Given the description of an element on the screen output the (x, y) to click on. 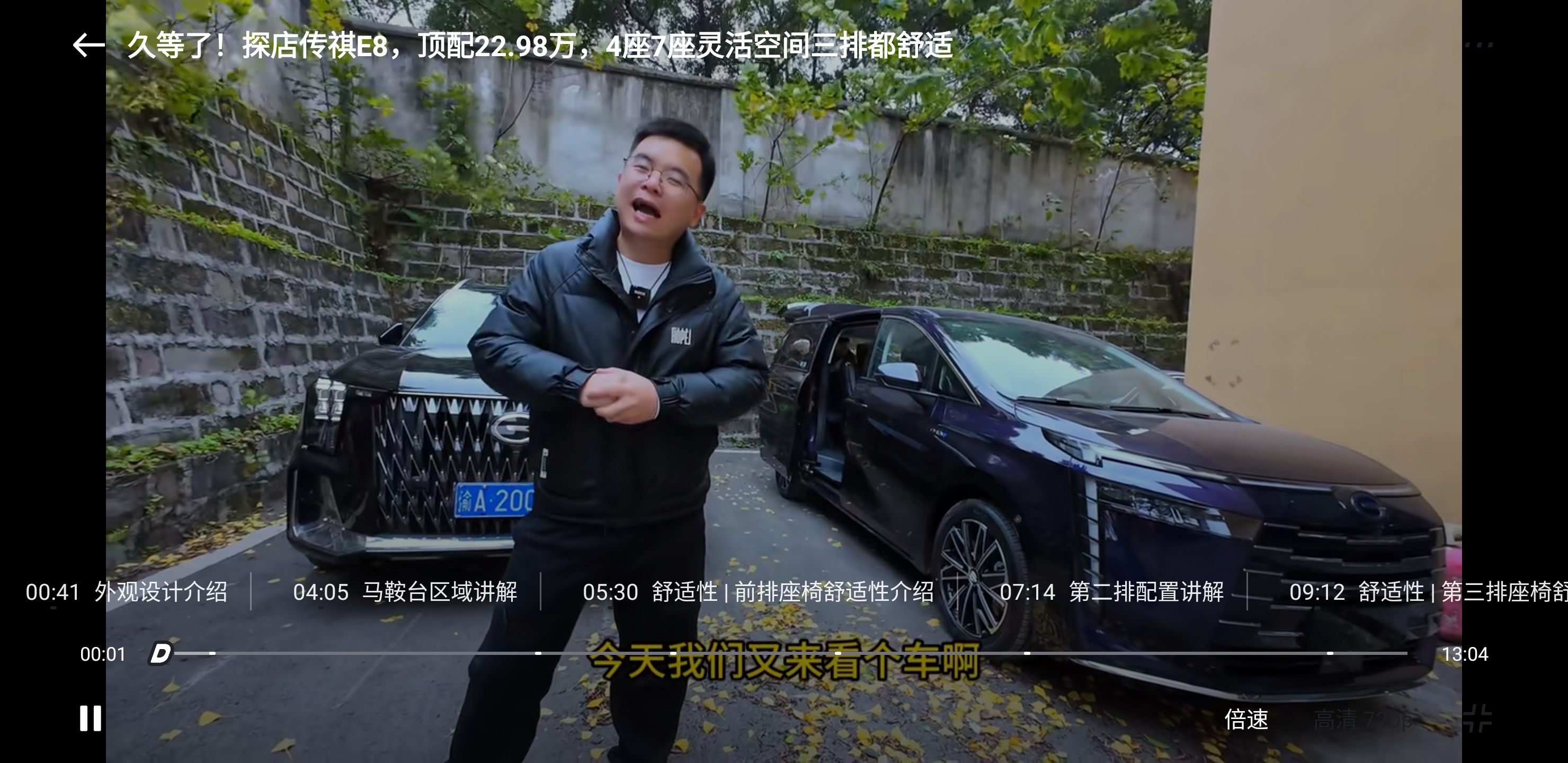
 (89, 44)
 (1478, 44)
00:41 外观设计介绍 (125, 591)
04:05 马鞍台区域讲解 (404, 591)
05:30 舒适性 | 前排座椅舒适性介绍 (757, 591)
07:14 第二排配置讲解 (1110, 591)
09:12 舒适性 | 第三排座椅舒适性介绍 (1415, 591)
 (90, 718)
 (1476, 718)
倍速 (1246, 718)
高清 720p (1363, 718)
